Given the description of an element on the screen output the (x, y) to click on. 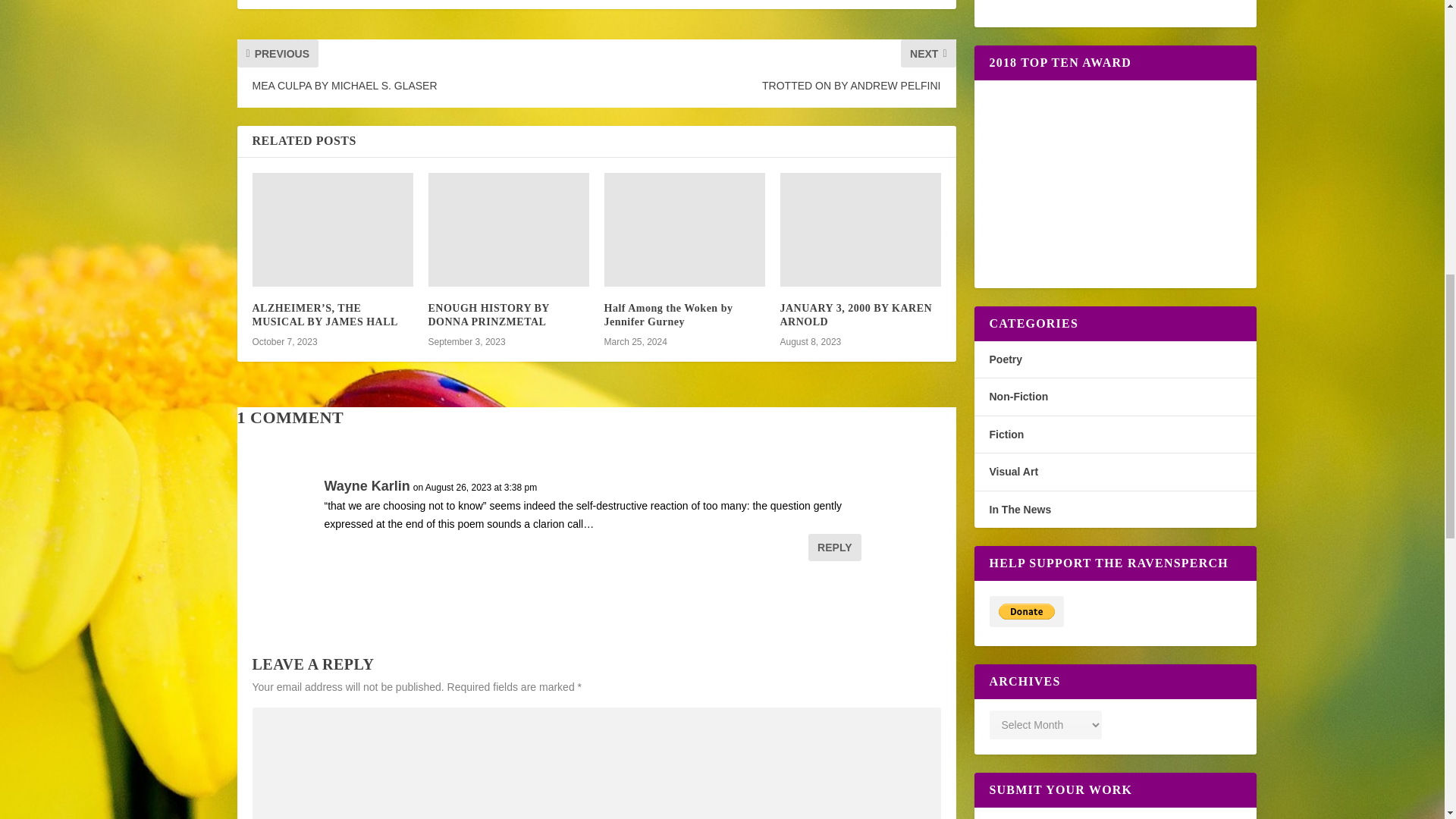
Share "WHAT THE OCEAN KNOWS BY MICHAEL S. GLASER" via Print (757, 0)
Share "WHAT THE OCEAN KNOWS BY MICHAEL S. GLASER" via Tumblr (575, 0)
Share "WHAT THE OCEAN KNOWS BY MICHAEL S. GLASER" via Buffer (667, 0)
Share "WHAT THE OCEAN KNOWS BY MICHAEL S. GLASER" via Email (727, 0)
